Given the description of an element on the screen output the (x, y) to click on. 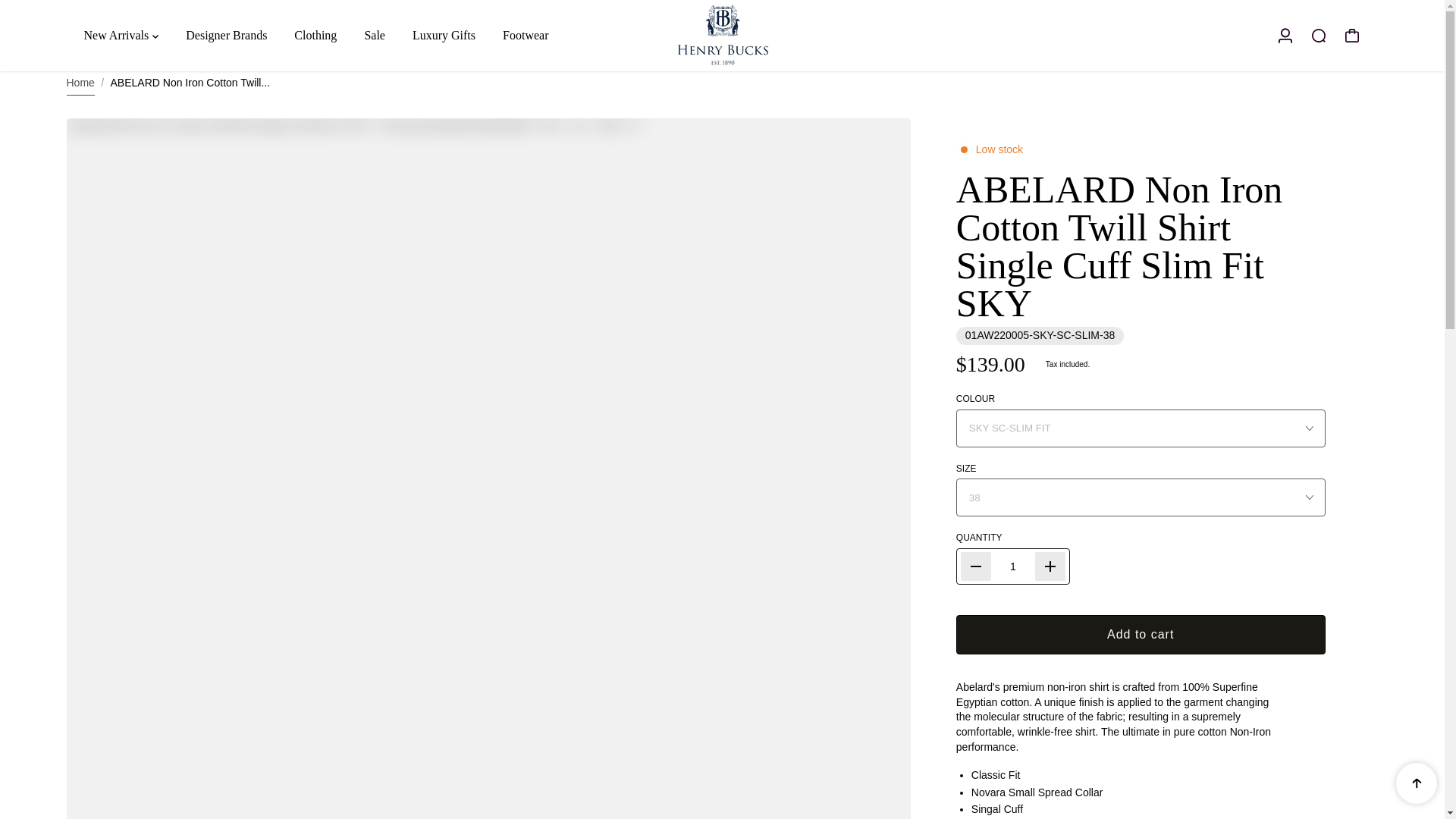
Designer Brands (226, 35)
Clothing (315, 35)
Log in (1284, 35)
Home (80, 83)
Home (80, 83)
New Arrivals (120, 35)
1 (1013, 566)
Add to cart (1140, 634)
Sale (374, 35)
Luxury Gifts (443, 35)
